Given the description of an element on the screen output the (x, y) to click on. 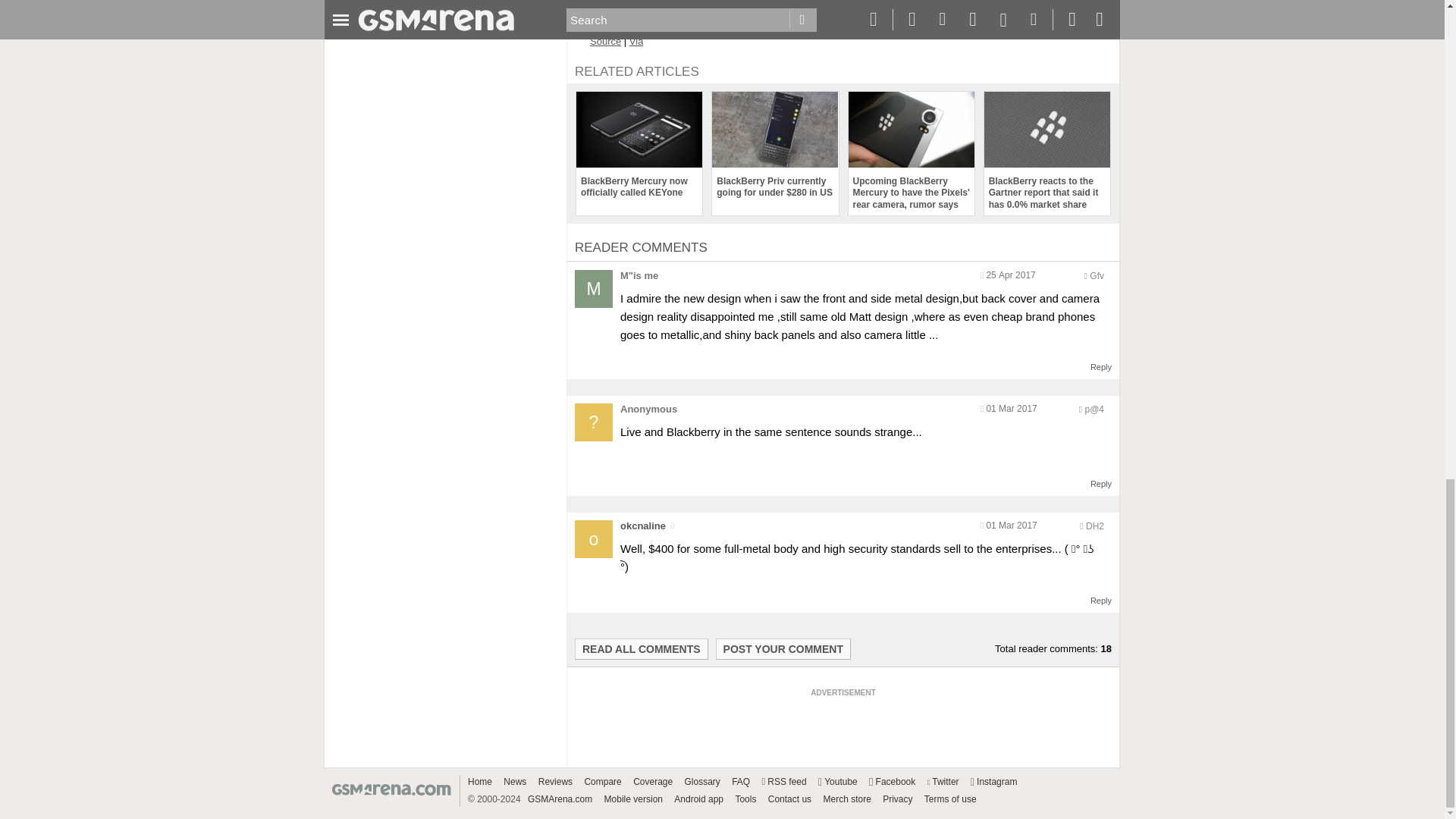
Reply to this post (1101, 366)
Encoded anonymized location (1093, 409)
Reply to this post (1101, 600)
Encoded anonymized location (1096, 276)
Reply to this post (1101, 483)
Encoded anonymized location (1094, 525)
